Given the description of an element on the screen output the (x, y) to click on. 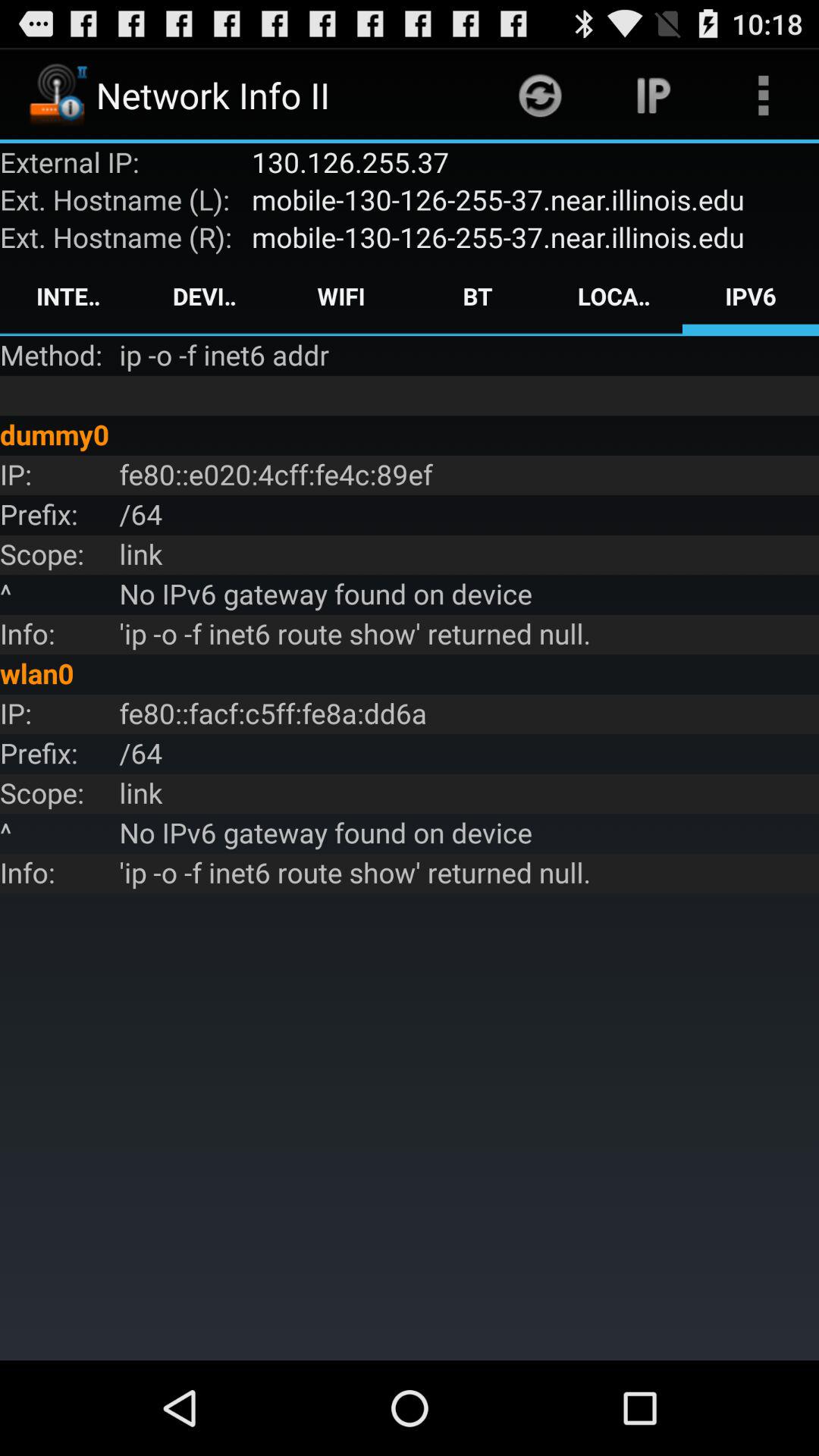
choose item to the left of the bt item (341, 295)
